Given the description of an element on the screen output the (x, y) to click on. 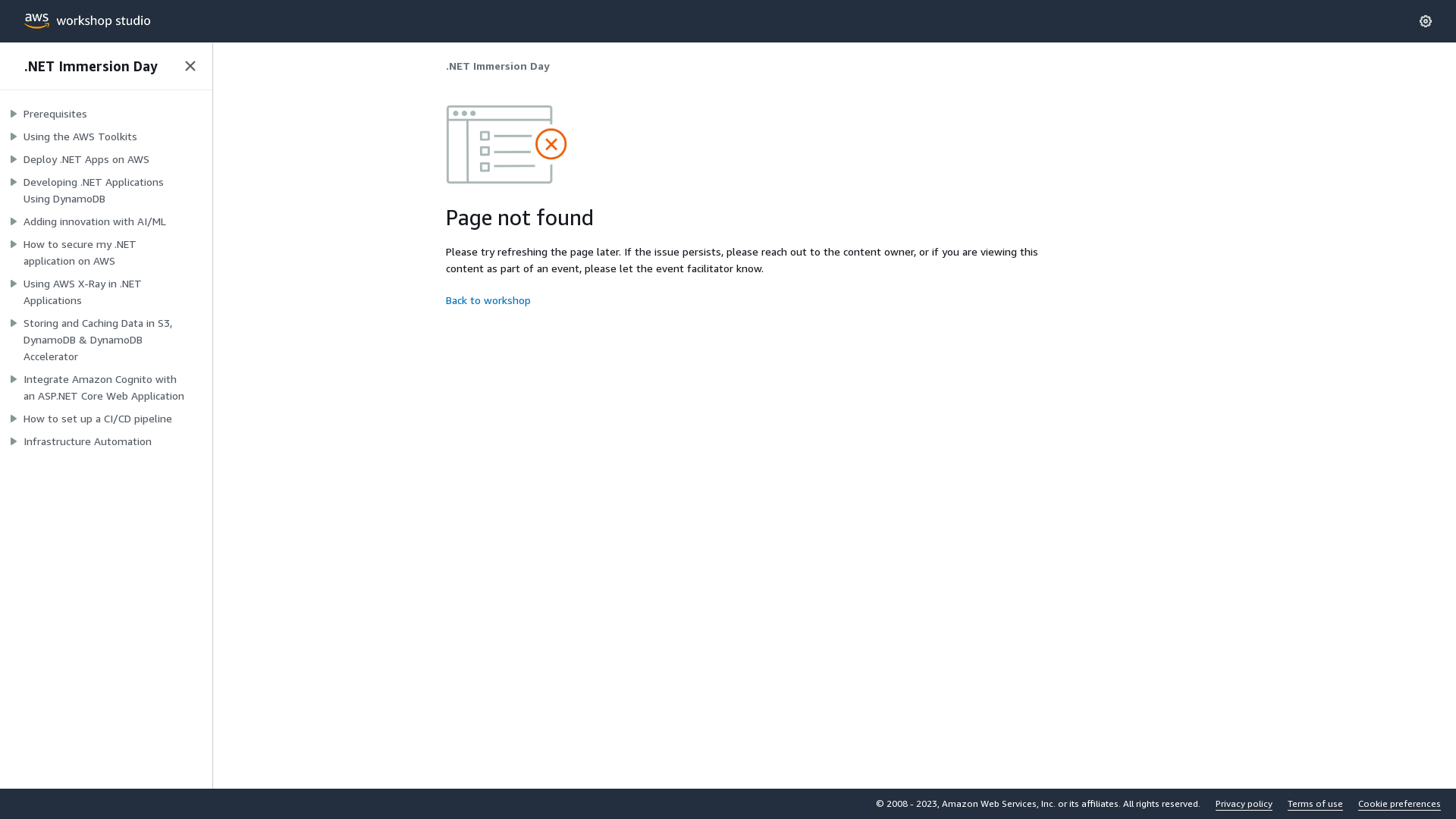
Terms of use Element type: text (1315, 803)
Deploy .NET Apps on AWS Element type: text (86, 158)
How to set up a CI/CD pipeline Element type: text (97, 418)
Back to workshop Element type: text (487, 299)
Using the AWS Toolkits Element type: text (80, 136)
Privacy policy Element type: text (1243, 803)
Cookie preferences Element type: text (1399, 803)
Infrastructure Automation Element type: text (87, 441)
Using AWS X-Ray in .NET Applications Element type: text (105, 291)
.NET Immersion Day Element type: text (96, 65)
Developing .NET Applications Using DynamoDB Element type: text (105, 190)
How to secure my .NET application on AWS Element type: text (105, 252)
Prerequisites Element type: text (55, 113)
Adding innovation with AI/ML Element type: text (94, 221)
